Given the description of an element on the screen output the (x, y) to click on. 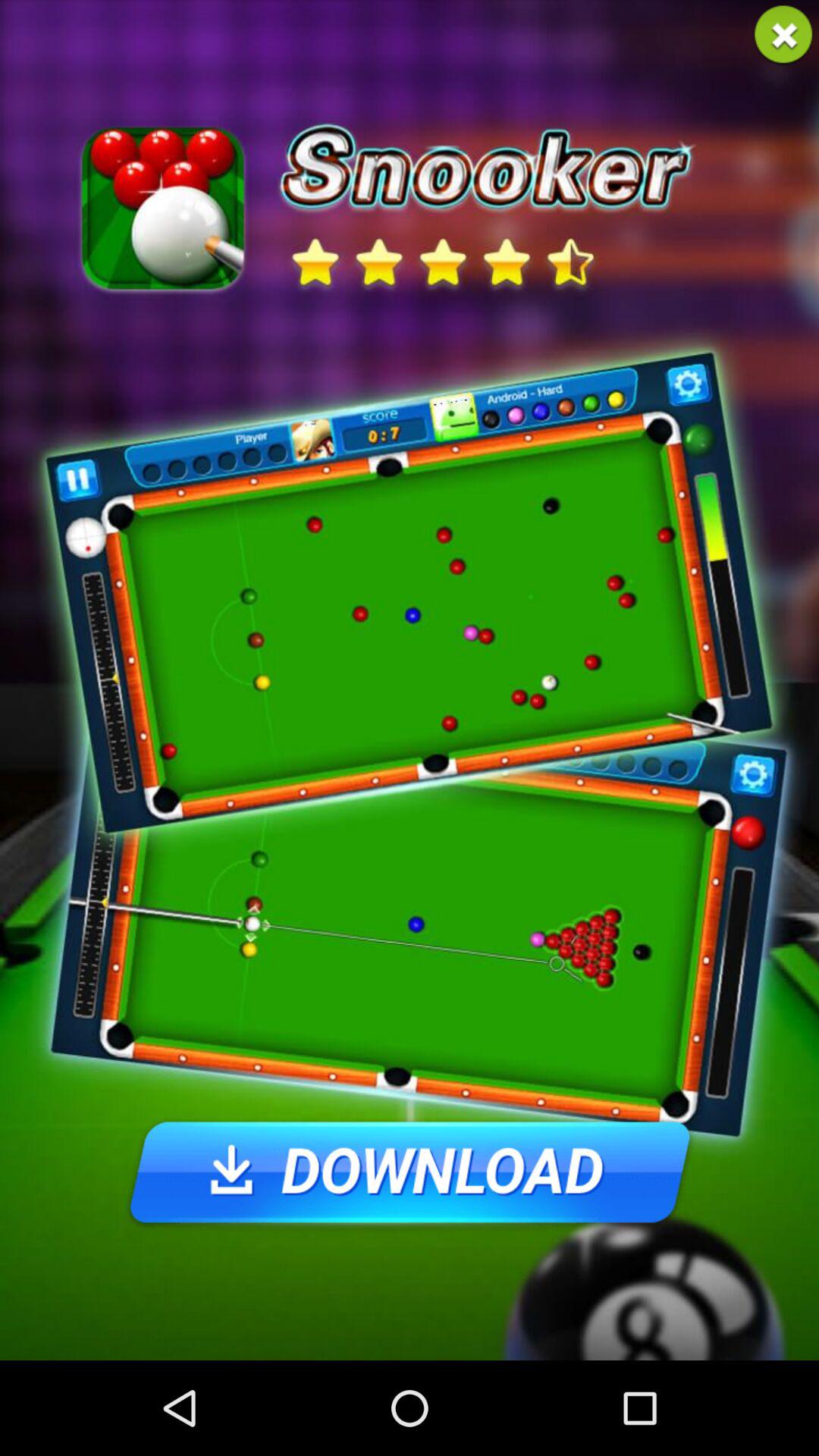
close the banner (783, 35)
